Given the description of an element on the screen output the (x, y) to click on. 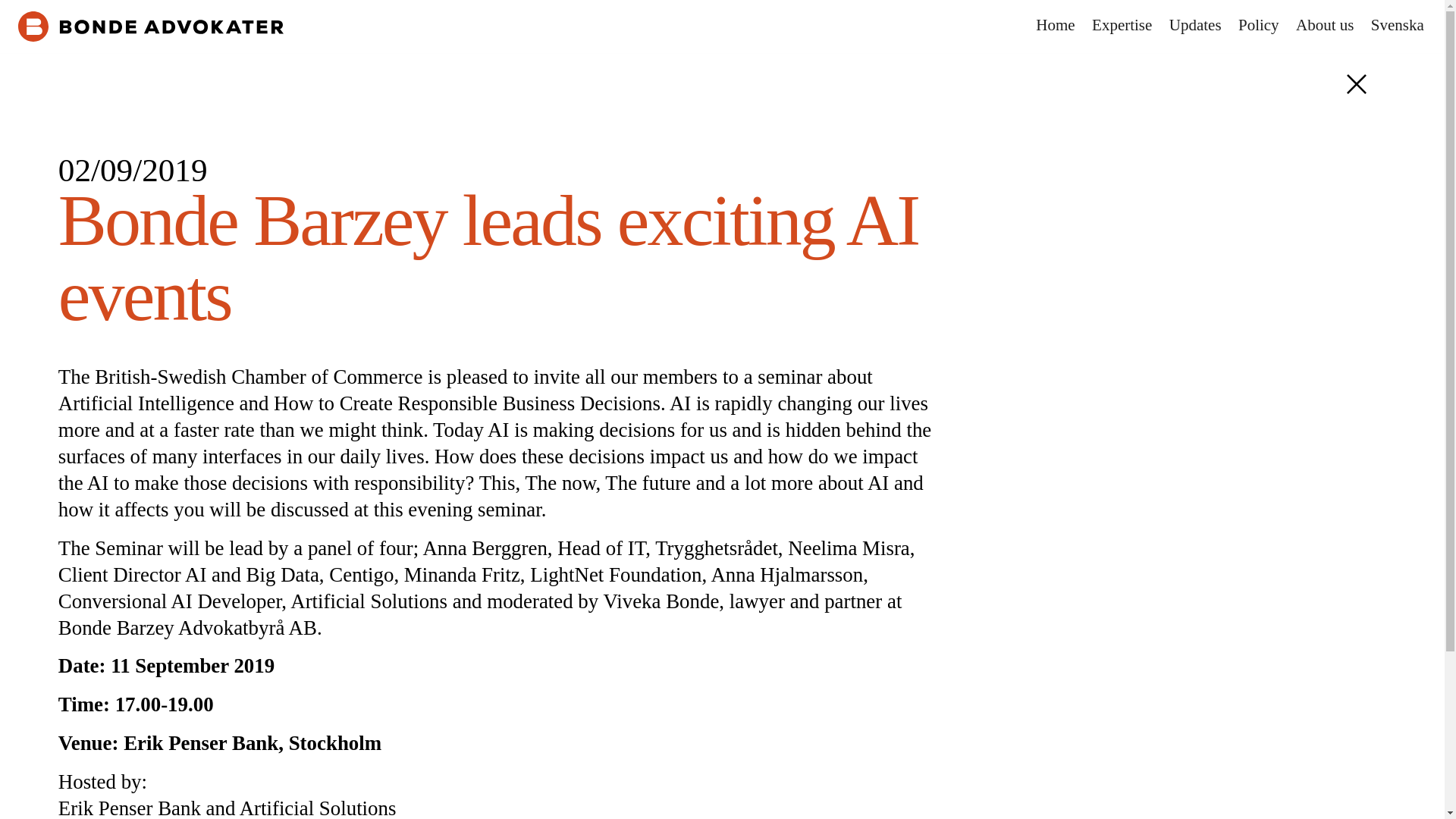
Svenska (1397, 26)
Expertise (1121, 26)
Back (1356, 84)
Home (1056, 26)
Updates (1194, 26)
About us (1324, 26)
Policy (1257, 26)
